Given the description of an element on the screen output the (x, y) to click on. 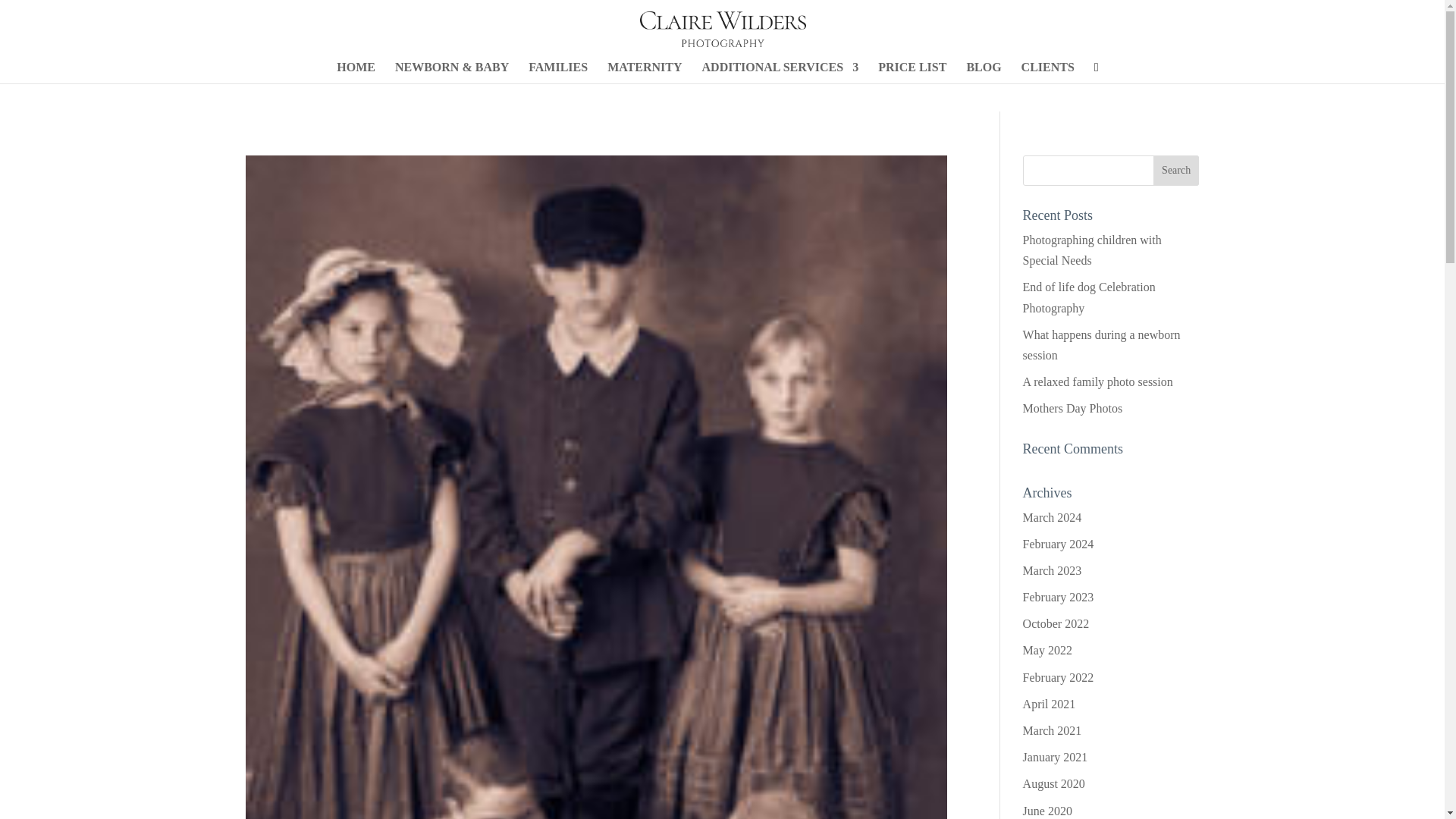
Search (1175, 170)
PRICE LIST (911, 72)
ADDITIONAL SERVICES (780, 72)
Search (1175, 170)
End of life dog Celebration Photography (1089, 296)
February 2024 (1058, 543)
May 2022 (1047, 649)
HOME (355, 72)
October 2022 (1056, 623)
CLIENTS (1048, 72)
February 2023 (1058, 596)
BLOG (983, 72)
January 2021 (1055, 757)
February 2022 (1058, 676)
A relaxed family photo session (1098, 381)
